Given the description of an element on the screen output the (x, y) to click on. 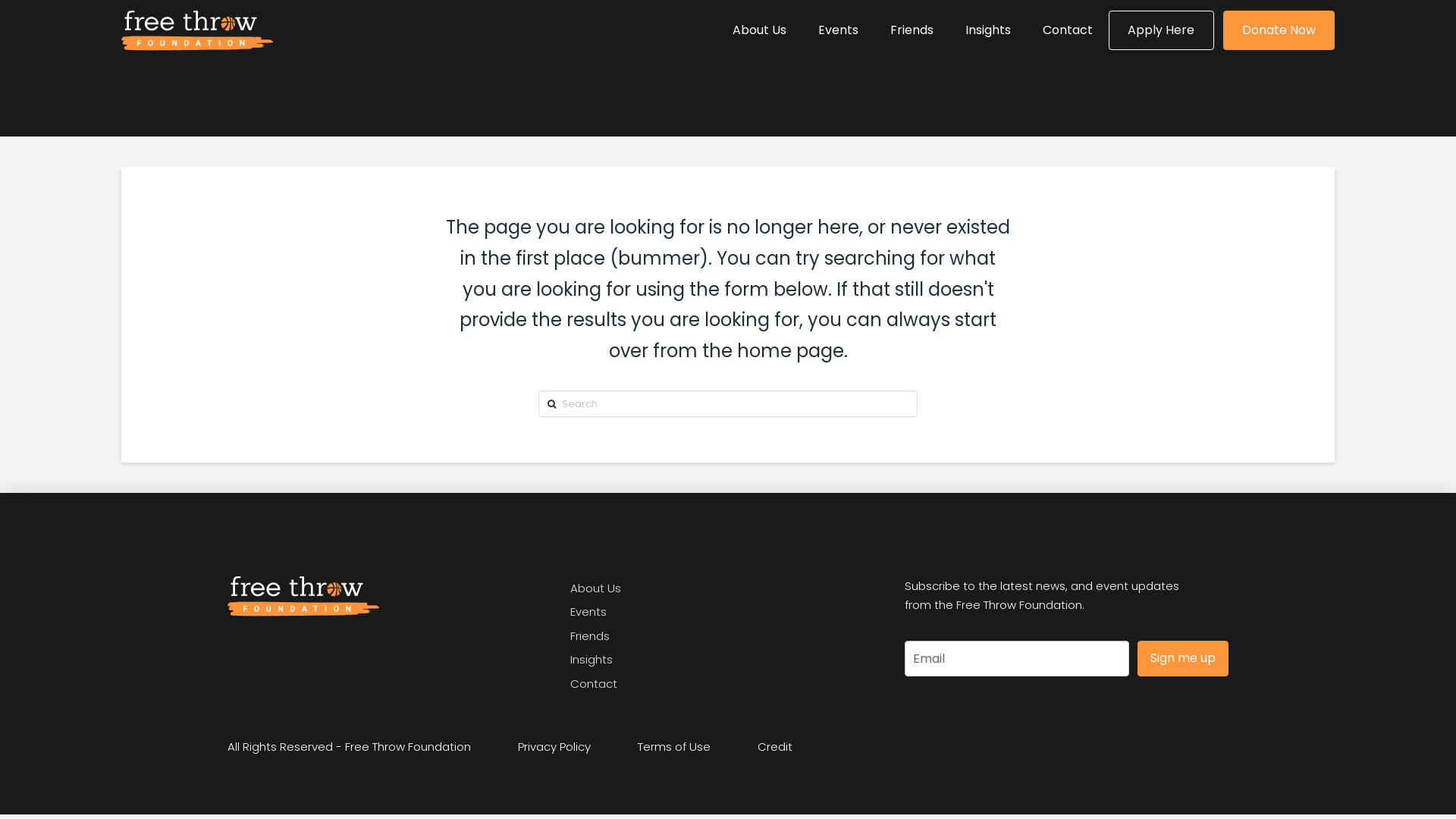
Credit Element type: text (774, 746)
Sign me up Element type: text (1182, 658)
Friends Element type: text (911, 30)
Apply Here Element type: text (1160, 30)
About Us Element type: text (759, 30)
Insights Element type: text (591, 659)
Donate Now Element type: text (1278, 30)
Contact Element type: text (593, 682)
Events Element type: text (838, 30)
Terms of Use Element type: text (673, 746)
Contact Element type: text (1067, 30)
Insights Element type: text (987, 30)
Friends Element type: text (589, 635)
Events Element type: text (588, 611)
About Us Element type: text (595, 587)
Privacy Policy Element type: text (553, 746)
